Given the description of an element on the screen output the (x, y) to click on. 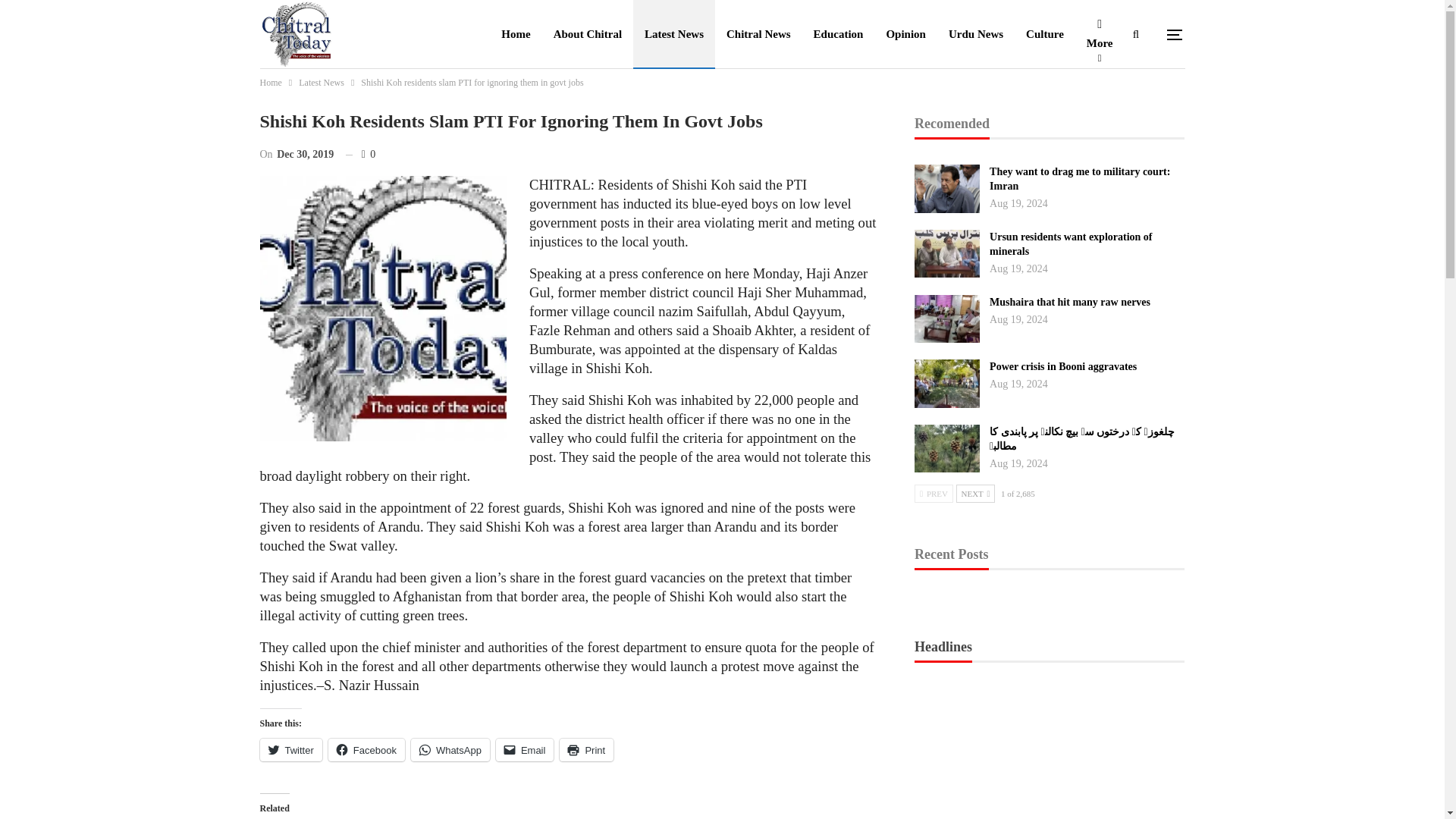
About Chitral (587, 33)
Shishi Koh residents slam PTI for ignoring them in govt jobs (382, 308)
Opinion (906, 33)
Twitter (290, 749)
Latest News (320, 82)
Click to share on Twitter (290, 749)
Click to share on Facebook (366, 749)
Click to share on WhatsApp (449, 749)
Home (270, 82)
Education (838, 33)
